Given the description of an element on the screen output the (x, y) to click on. 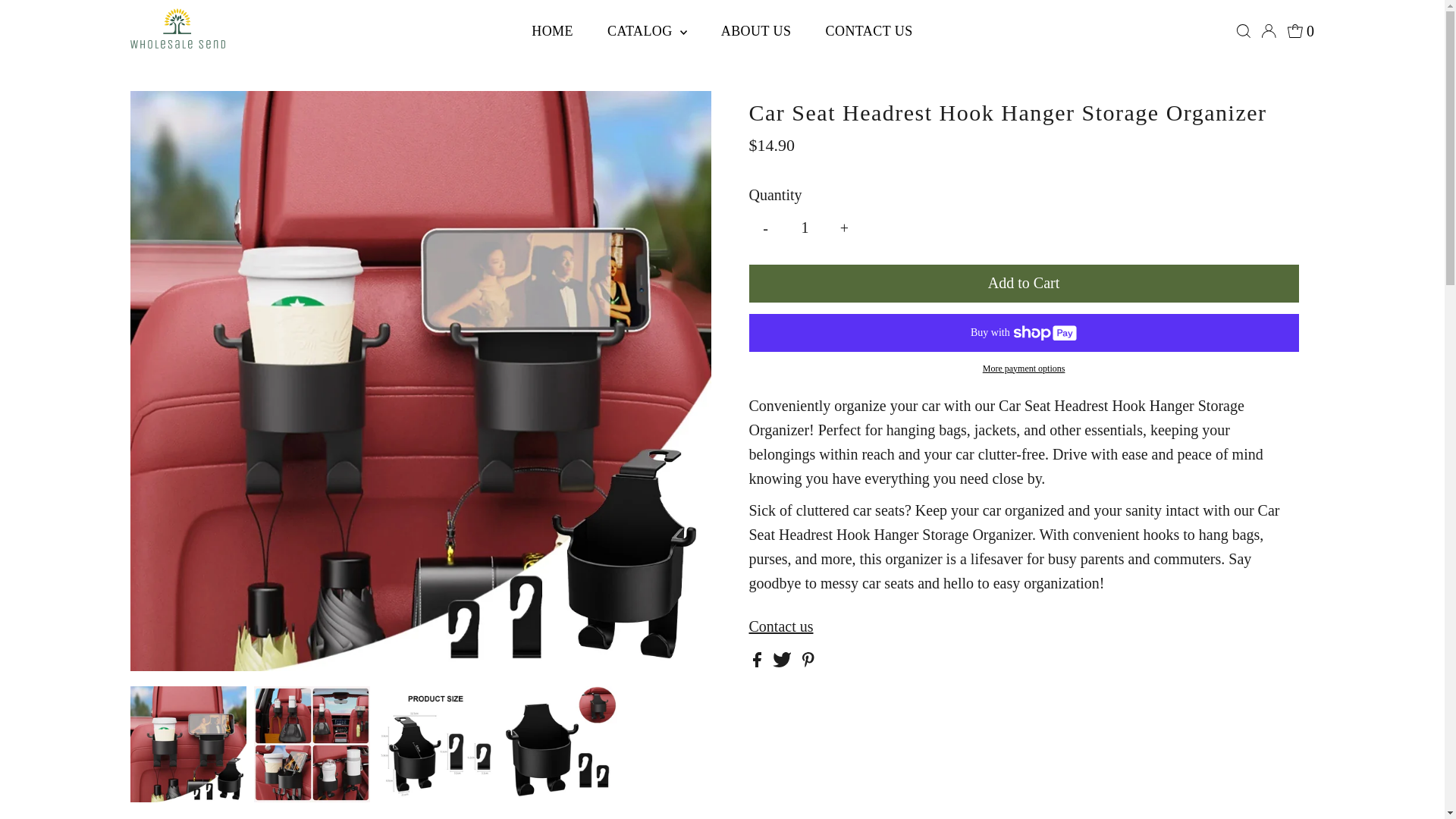
1 (805, 227)
0 (1300, 31)
- (766, 227)
Add to Cart (1023, 283)
Share on Facebook (758, 661)
ABOUT US (756, 31)
CONTACT US (868, 31)
Share on Twitter (782, 661)
HOME (552, 31)
Share on Pinterest (807, 661)
